Given the description of an element on the screen output the (x, y) to click on. 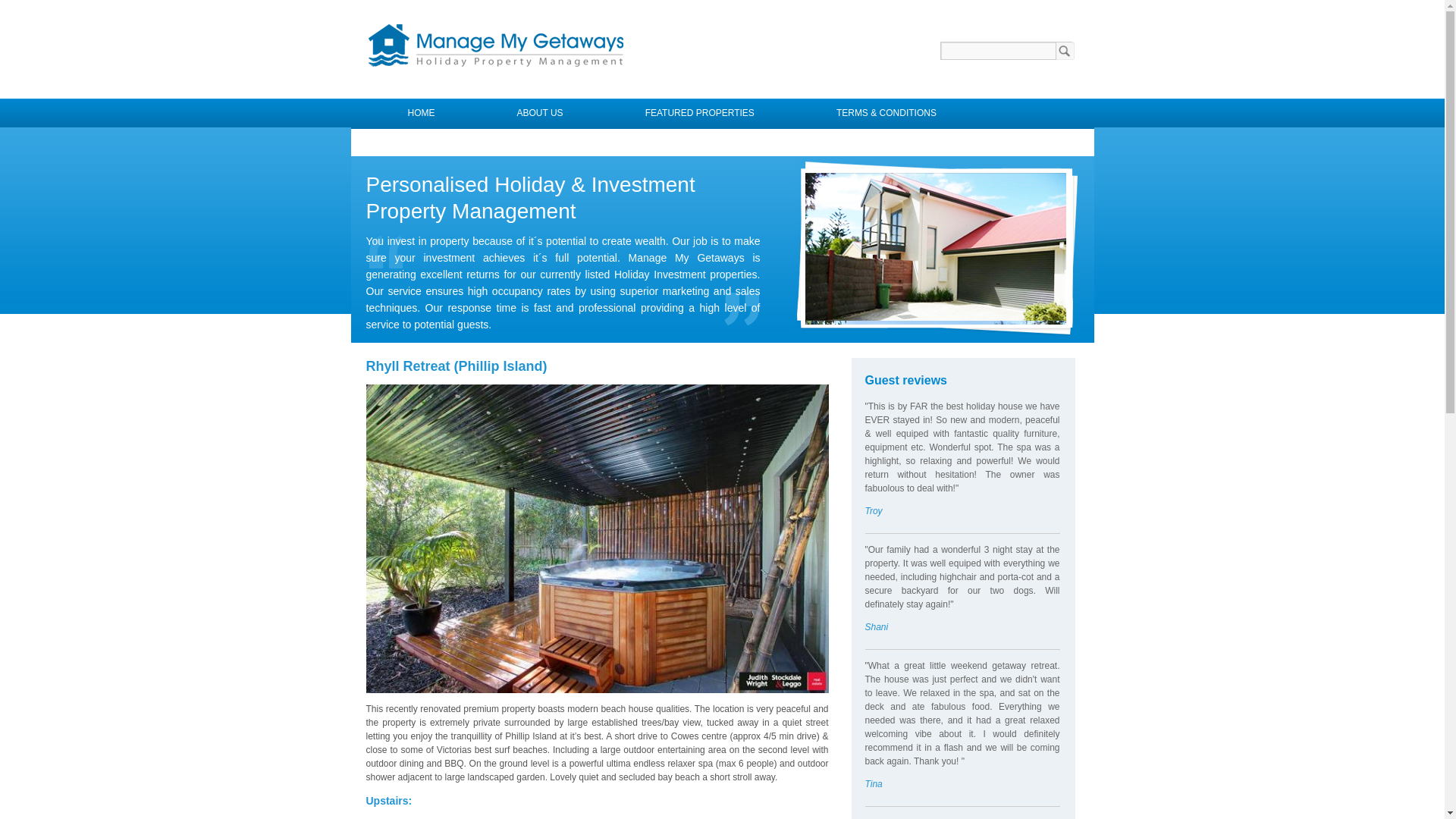
img_64609_b6121b75e61beb486a7cc374b41dfc66_max800x600 Element type: hover (596, 538)
HOME Element type: text (421, 112)
FEATURED PROPERTIES Element type: text (699, 112)
ABOUT US Element type: text (540, 112)
CONTACT US Element type: text (437, 141)
Search Element type: text (1066, 50)
TERMS & CONDITIONS Element type: text (886, 112)
